Given the description of an element on the screen output the (x, y) to click on. 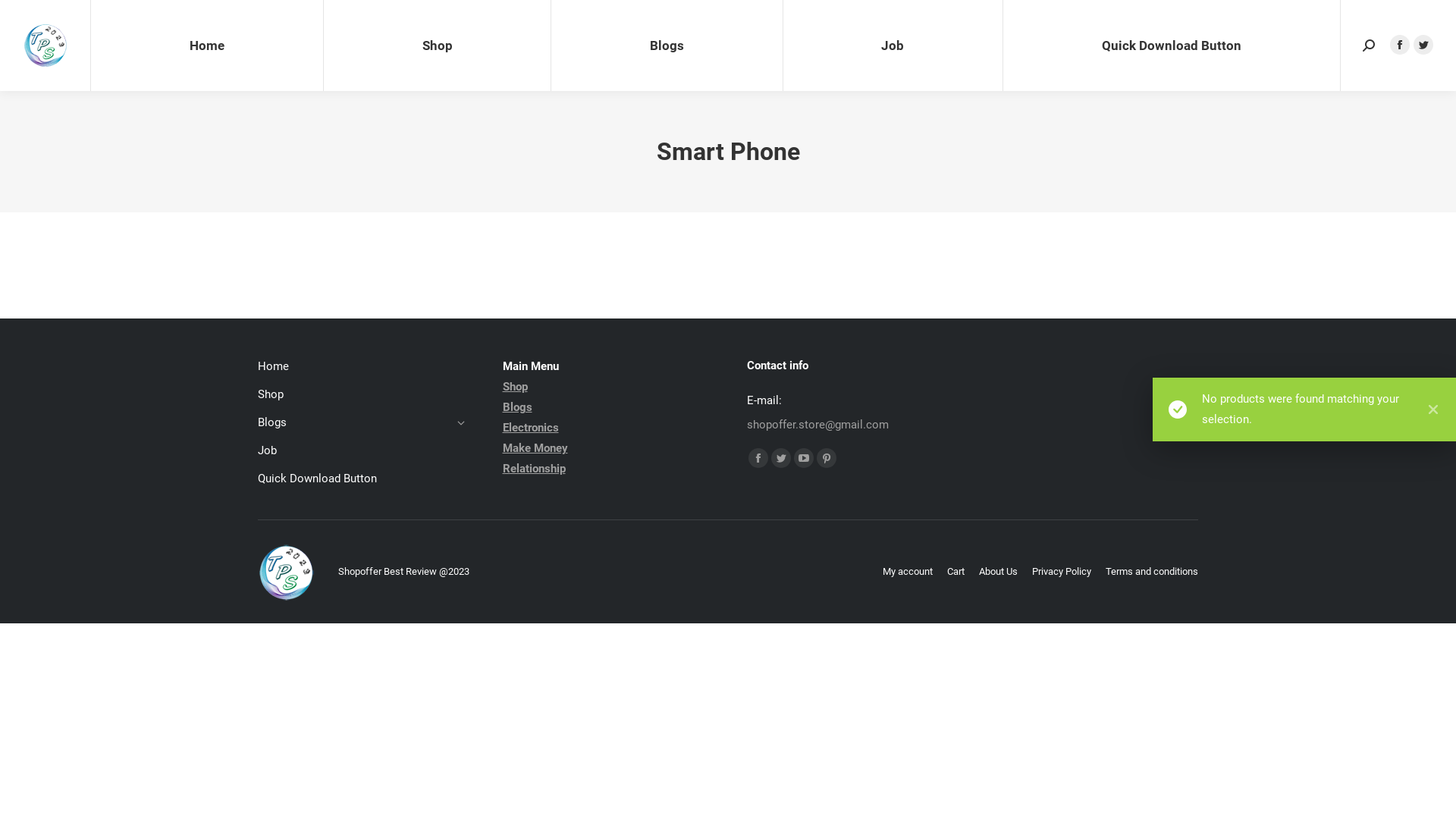
Quick Download Button Element type: text (360, 478)
Home Element type: text (360, 370)
Privacy Policy Element type: text (1061, 571)
Make Money Element type: text (534, 448)
Cart Element type: text (955, 571)
Facebook page opens in new window Element type: text (758, 457)
Blogs Element type: text (516, 407)
Job Element type: text (360, 454)
My account Element type: text (907, 571)
Quick Download Button Element type: text (1171, 45)
Go! Element type: text (23, 16)
Shop Element type: text (436, 45)
Twitter page opens in new window Element type: text (780, 457)
Job Element type: text (892, 45)
Facebook page opens in new window Element type: text (1399, 44)
Pinterest page opens in new window Element type: text (826, 457)
Terms and conditions Element type: text (1151, 571)
Relationship Element type: text (533, 468)
Electronics Element type: text (530, 427)
Shop Element type: text (360, 398)
Twitter page opens in new window Element type: text (1423, 44)
Blogs Element type: text (666, 45)
Home Element type: text (207, 45)
Shop Element type: text (514, 386)
YouTube page opens in new window Element type: text (803, 457)
Blogs Element type: text (360, 426)
About Us Element type: text (998, 571)
